Given the description of an element on the screen output the (x, y) to click on. 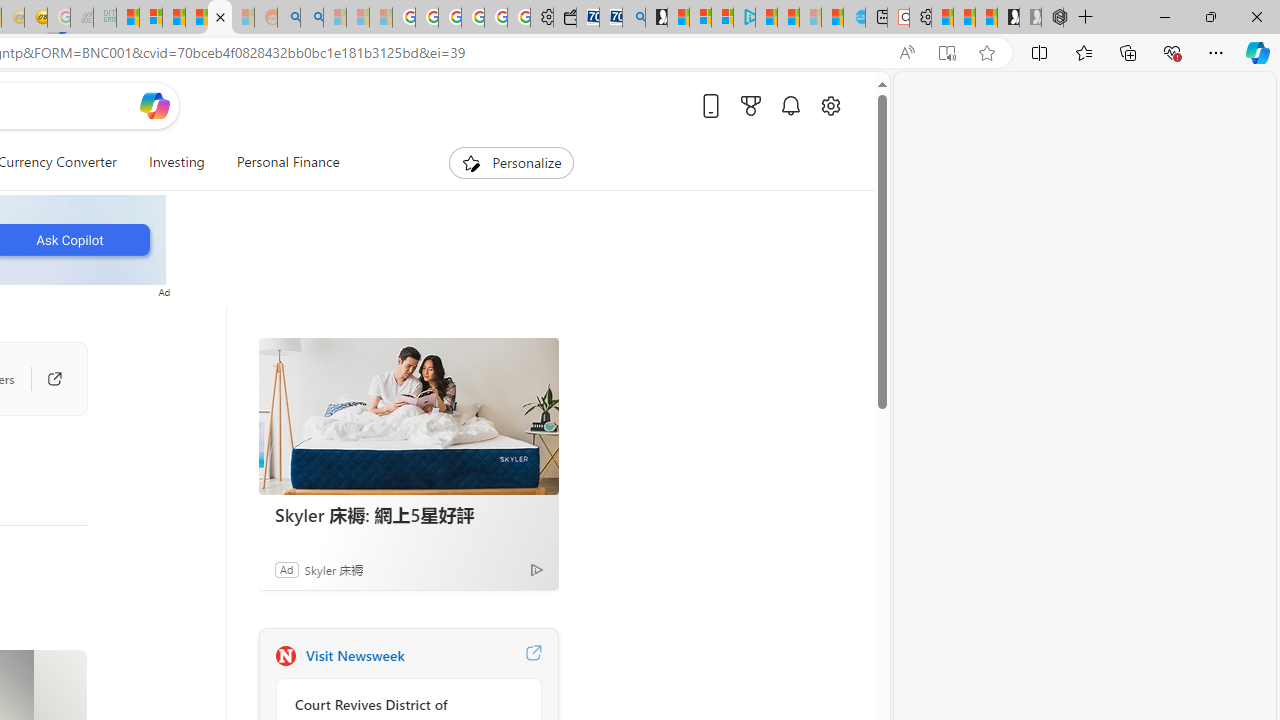
Home | Sky Blue Bikes - Sky Blue Bikes (854, 17)
Wallet (564, 17)
Open settings (830, 105)
Investing (176, 162)
Investing (176, 162)
